Given the description of an element on the screen output the (x, y) to click on. 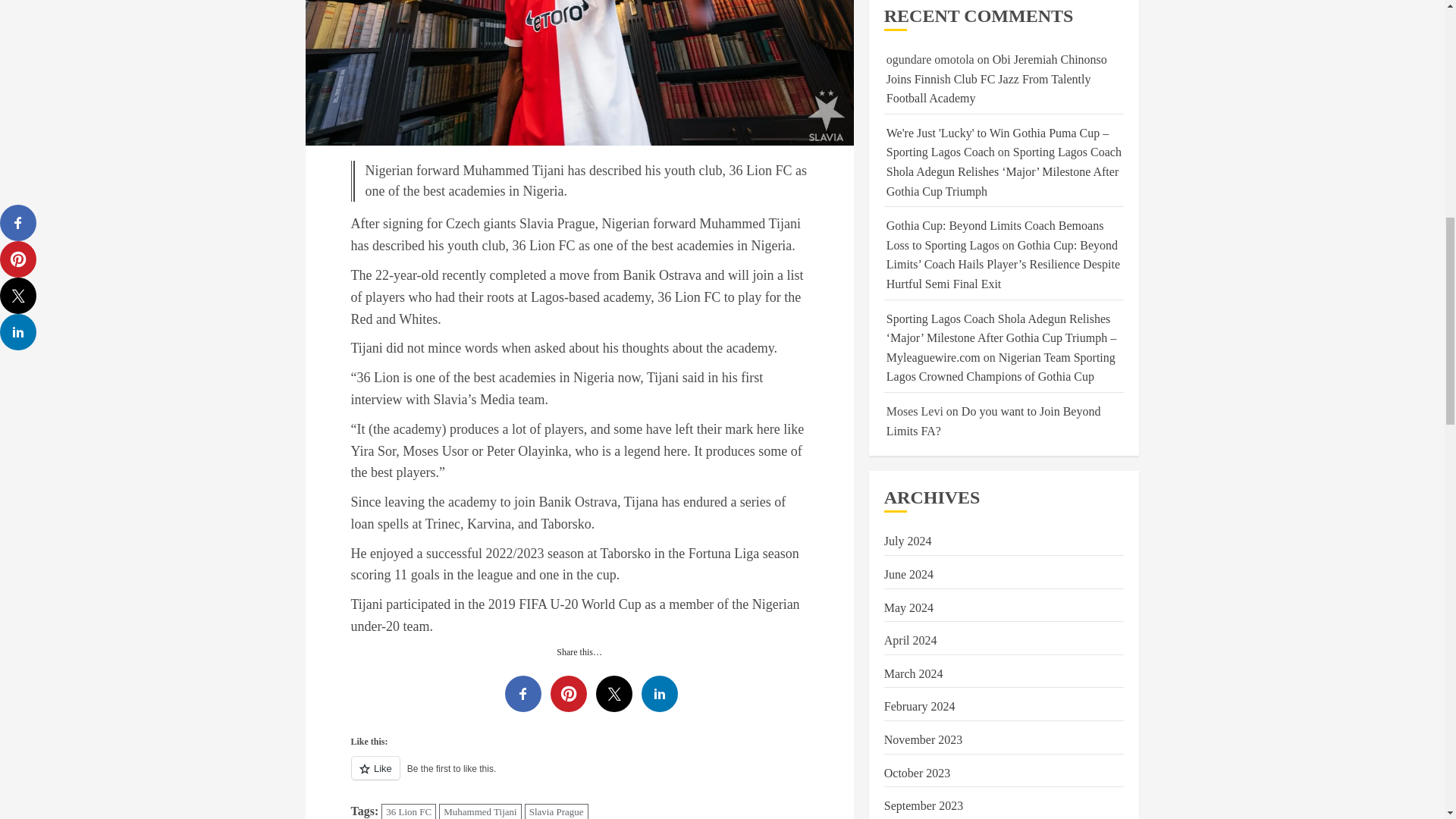
Slavia Prague (556, 811)
36 Lion FC (408, 811)
Like or Reblog (579, 776)
Muhammed Tijani (480, 811)
